Given the description of an element on the screen output the (x, y) to click on. 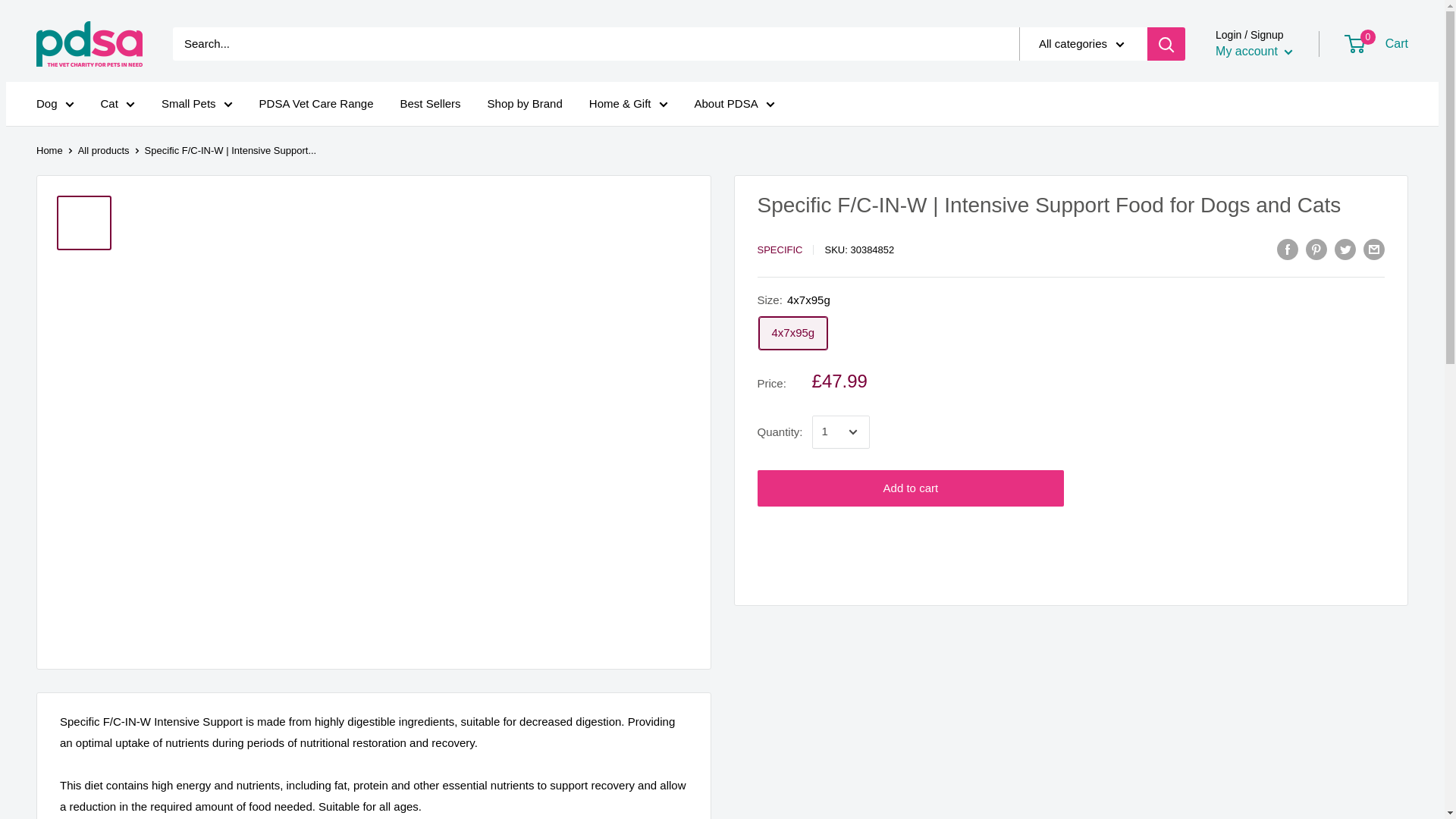
4x7x95g (792, 332)
